Given the description of an element on the screen output the (x, y) to click on. 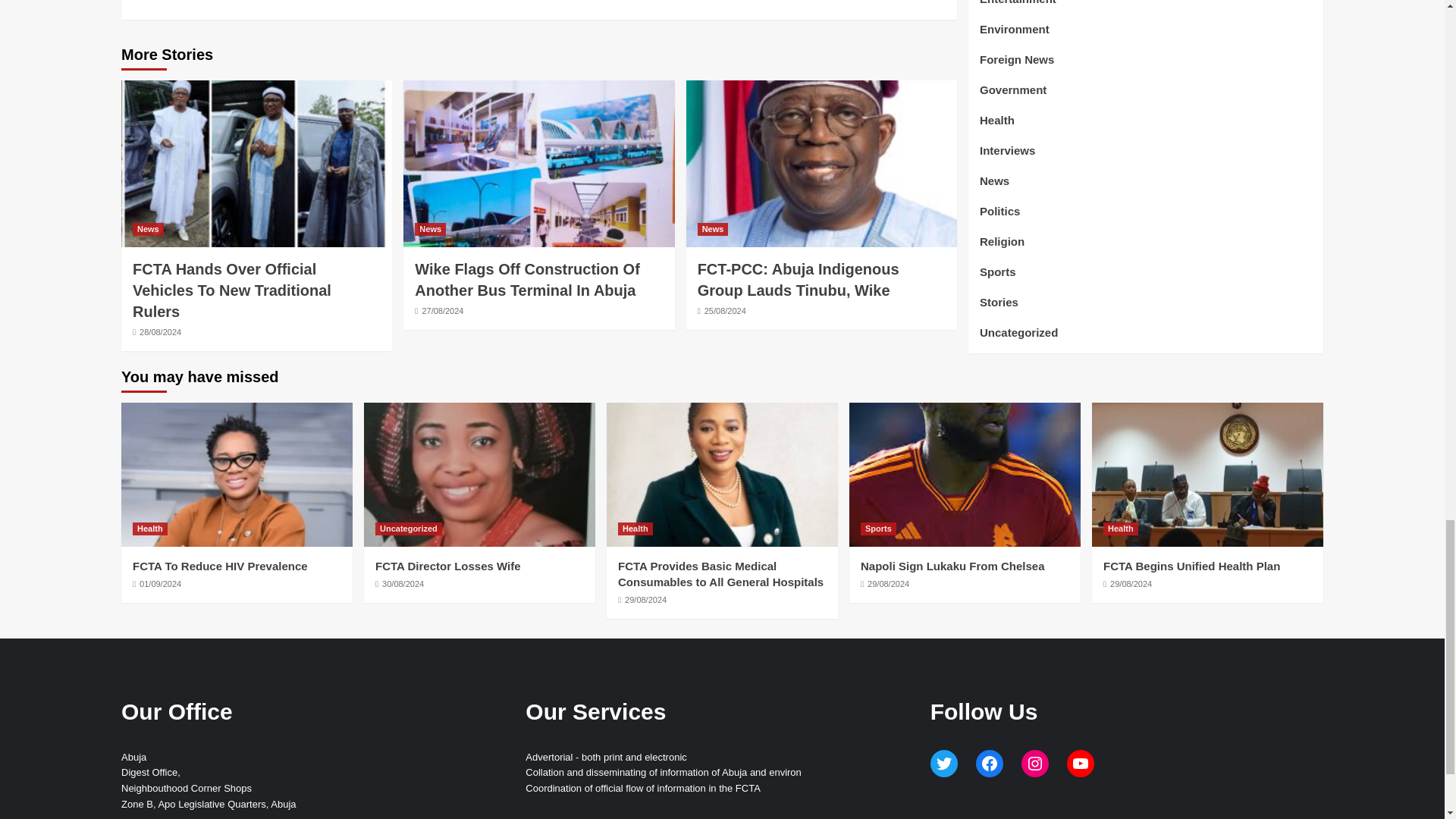
News (713, 228)
News (147, 228)
FCT-PCC: Abuja Indigenous Group Lauds Tinubu, Wike (798, 279)
FCTA Hands Over Official Vehicles To New Traditional Rulers (231, 290)
Wike Flags Off Construction Of Another Bus Terminal In Abuja (527, 279)
News (429, 228)
